Given the description of an element on the screen output the (x, y) to click on. 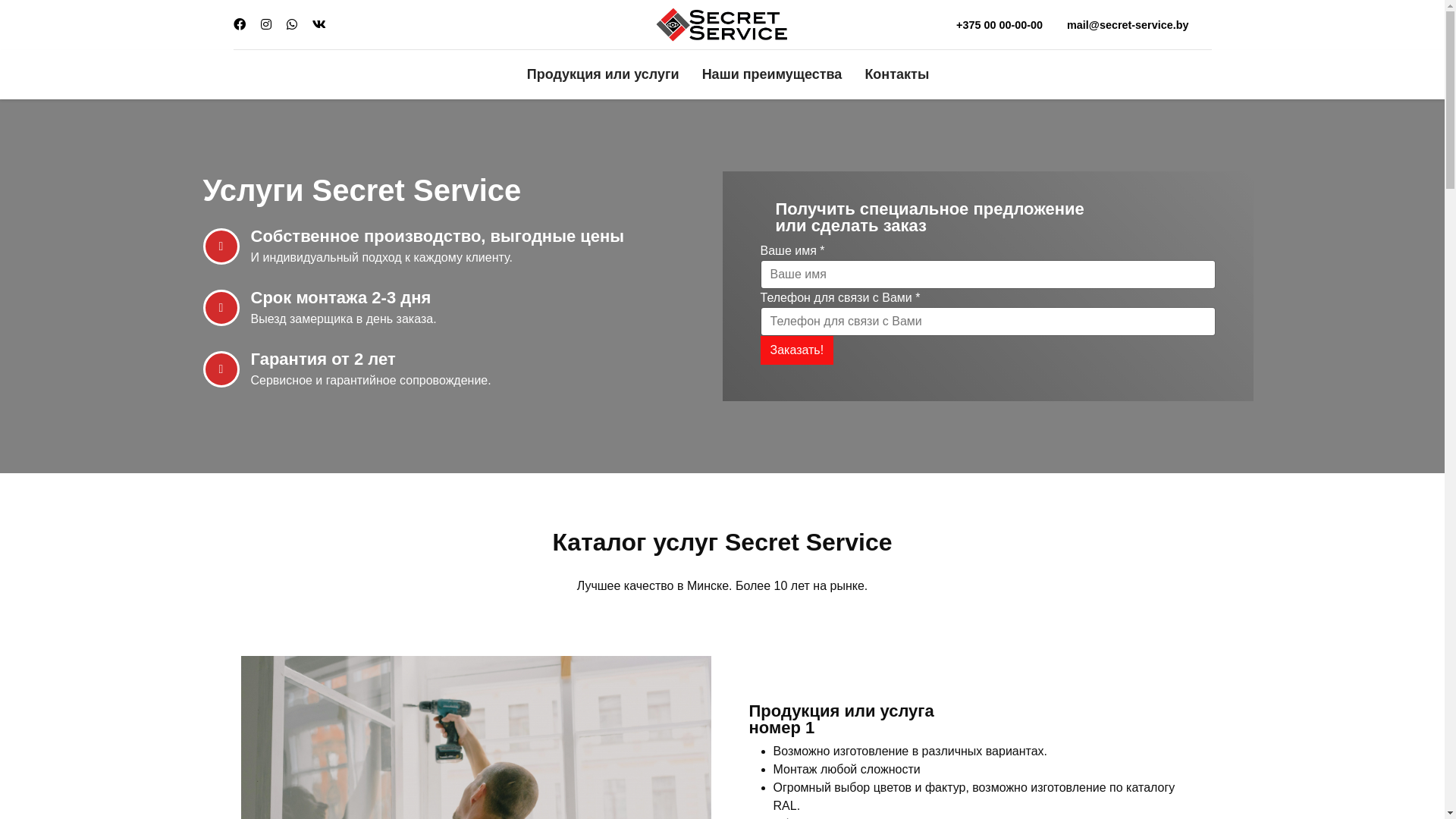
+375 00 00-00-00 Element type: text (999, 24)
mail@secret-service.by Element type: text (1127, 24)
